Given the description of an element on the screen output the (x, y) to click on. 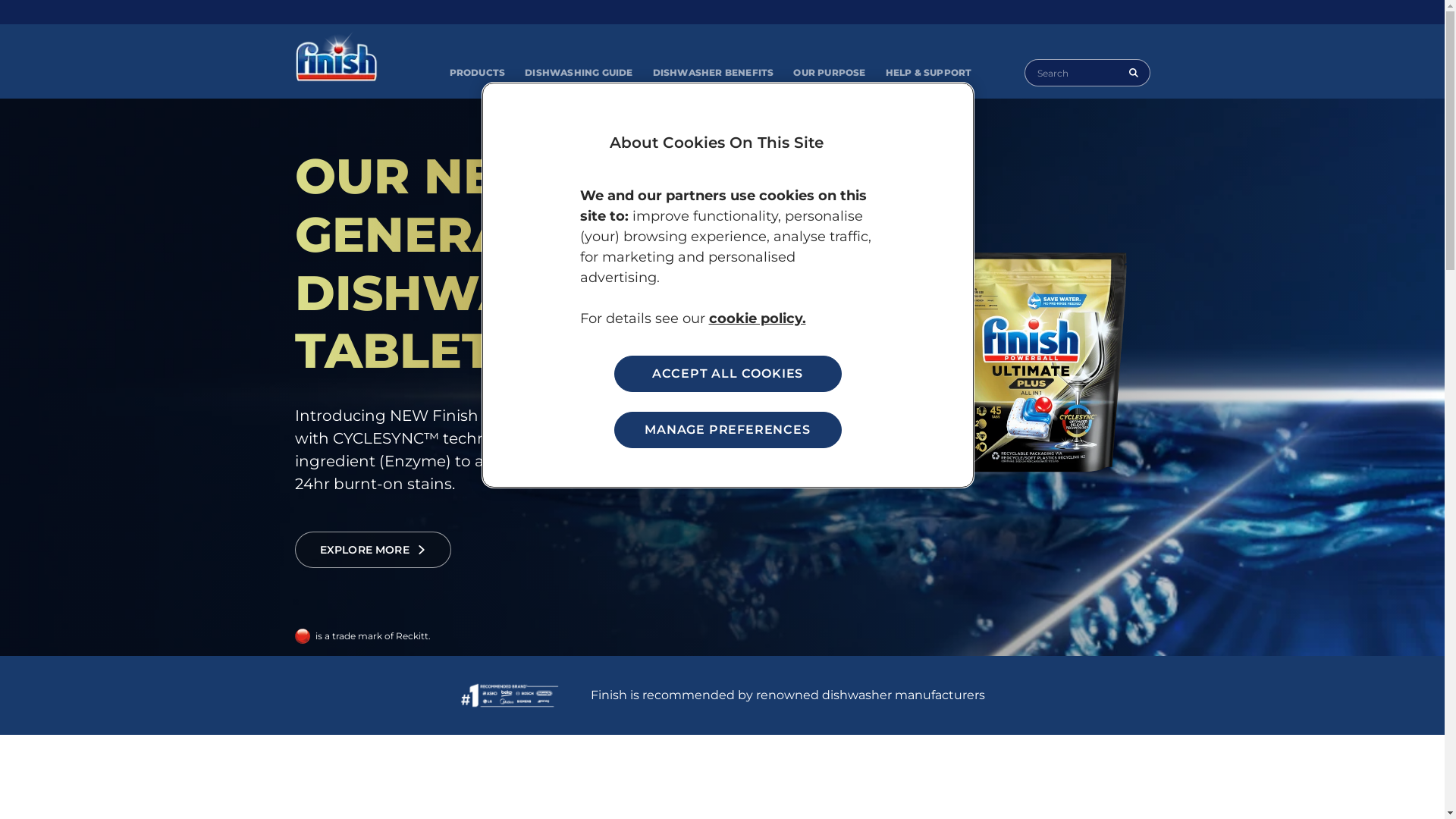
HELP & SUPPORT Element type: text (928, 72)
EXPLORE MORE Element type: text (372, 549)
DISHWASHER BENEFITS Element type: text (713, 72)
MANAGE PREFERENCES Element type: text (727, 429)
ACCEPT ALL COOKIES Element type: text (727, 372)
DISHWASHING GUIDE Element type: text (578, 72)
cookie policy. Element type: text (756, 317)
OUR PURPOSE Element type: text (829, 72)
PRODUCTS Element type: text (477, 72)
